Given the description of an element on the screen output the (x, y) to click on. 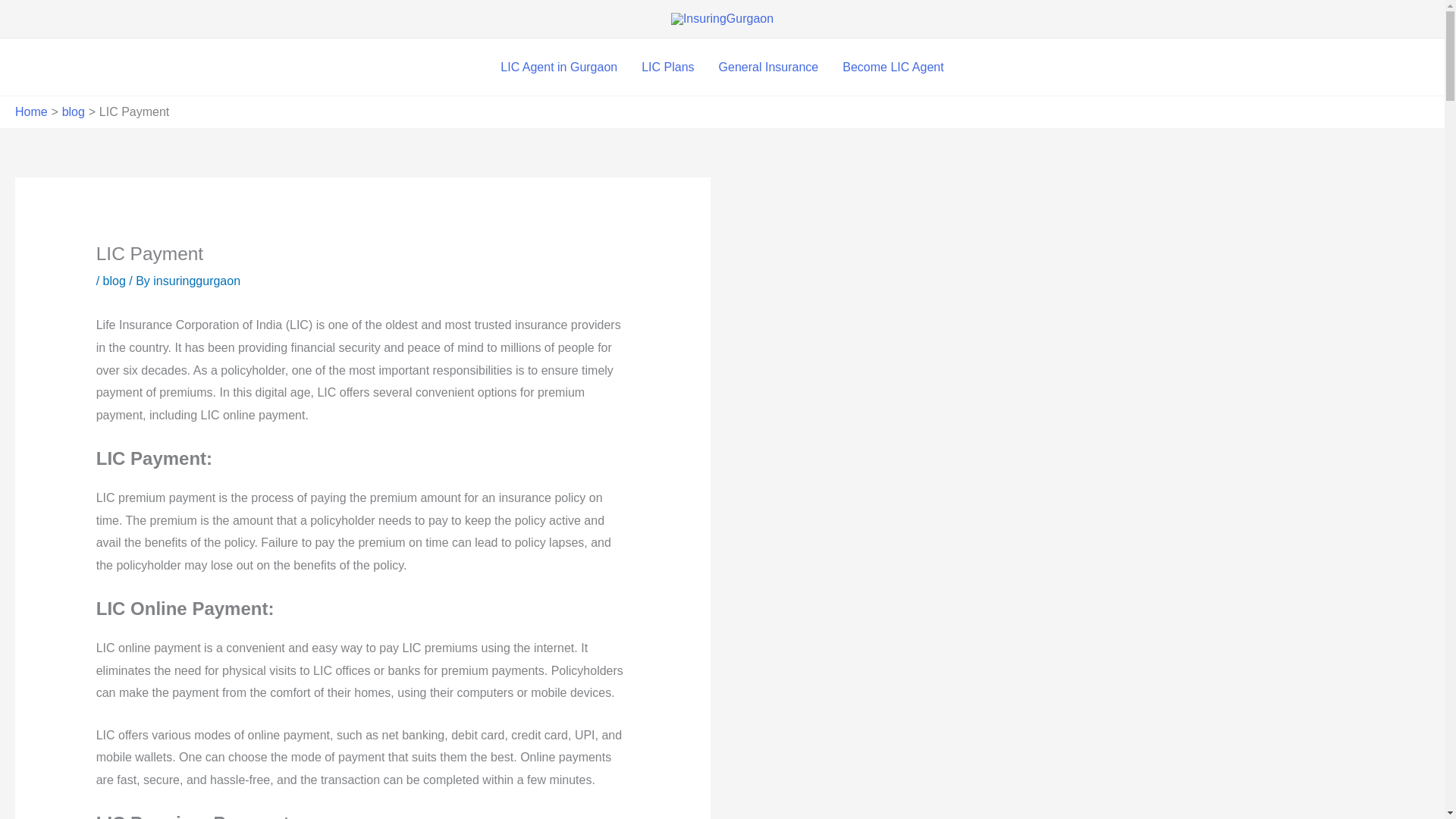
Become LIC Agent (892, 66)
General Insurance (768, 66)
blog (73, 111)
Home (31, 111)
insuringgurgaon (196, 280)
LIC Plans (667, 66)
LIC Agent in Gurgaon (557, 66)
View all posts by insuringgurgaon (196, 280)
blog (114, 280)
